Given the description of an element on the screen output the (x, y) to click on. 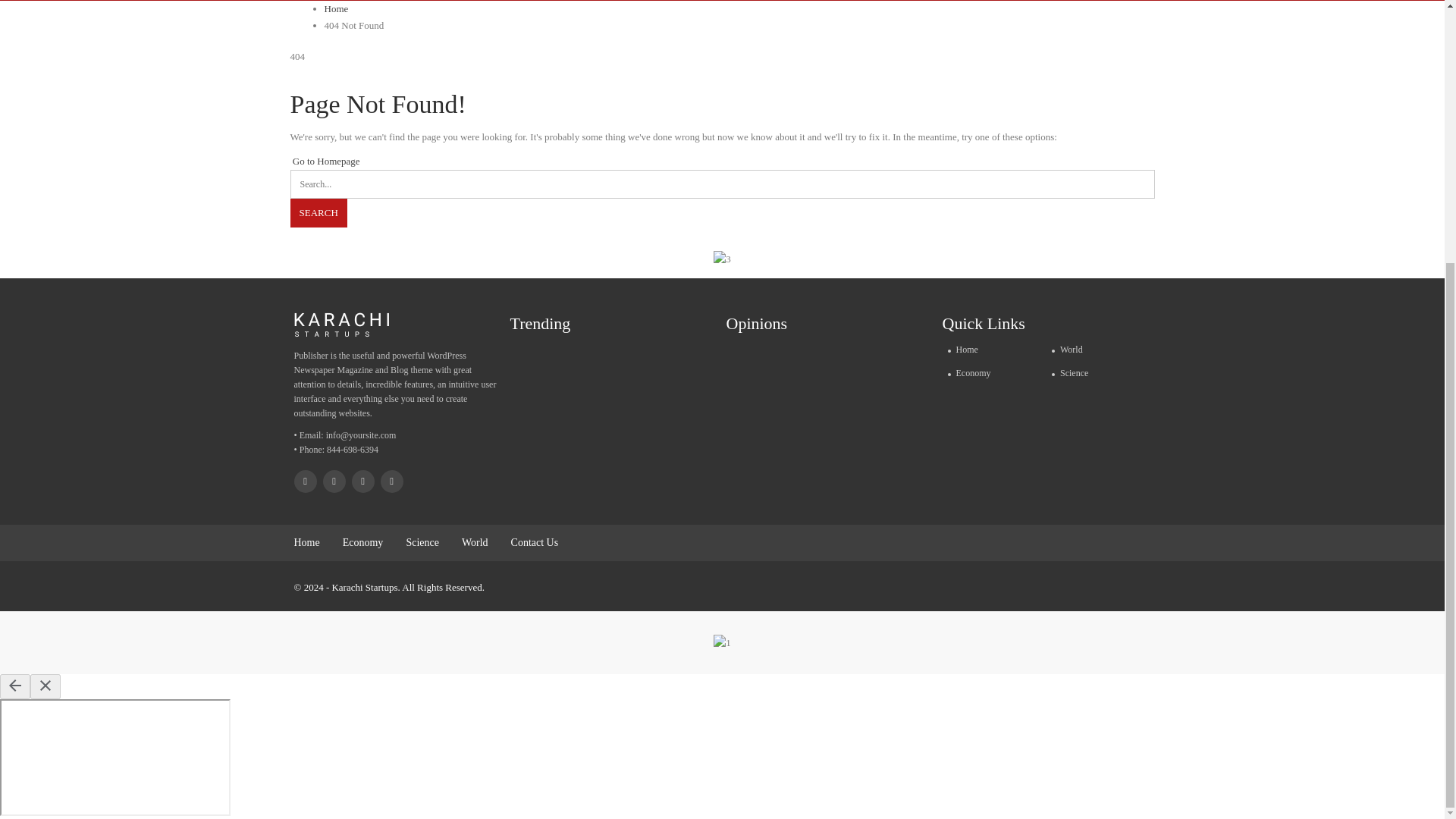
Contact Us (535, 542)
Search (317, 213)
World (474, 542)
Economy (411, 0)
Search (317, 213)
Opinions (763, 324)
Home (307, 542)
Science (1098, 372)
Go to Homepage (324, 161)
